Given the description of an element on the screen output the (x, y) to click on. 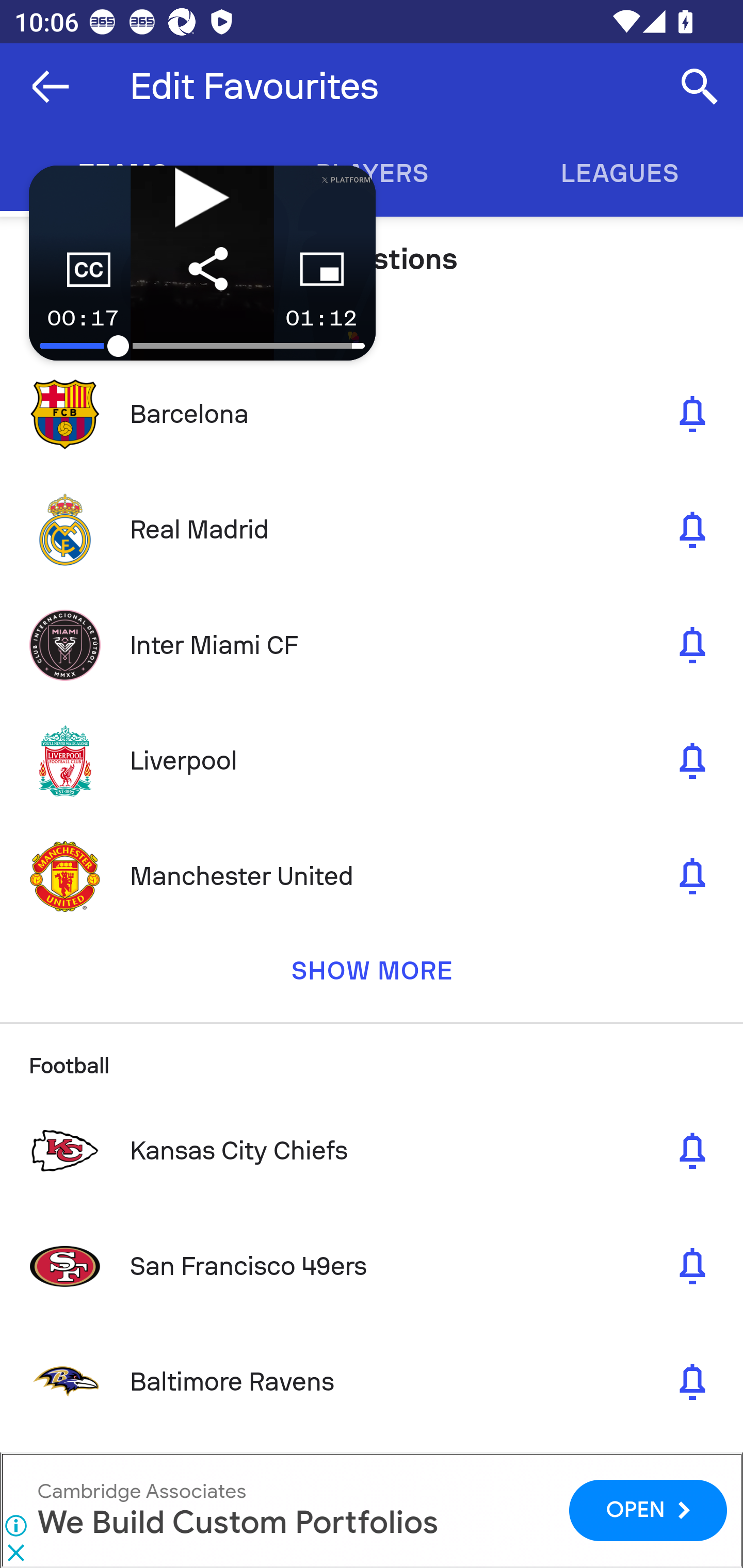
Navigate up (50, 86)
Search (699, 86)
Leagues LEAGUES (619, 173)
Barcelona (371, 413)
Real Madrid (371, 529)
Inter Miami CF (371, 645)
Liverpool (371, 760)
Manchester United (371, 876)
SHOW MORE (371, 978)
Football (371, 1057)
Kansas City Chiefs (371, 1150)
San Francisco 49ers (371, 1265)
Baltimore Ravens (371, 1381)
Cambridge Associates (141, 1491)
OPEN (647, 1509)
We Build Custom Portfolios (237, 1522)
